Given the description of an element on the screen output the (x, y) to click on. 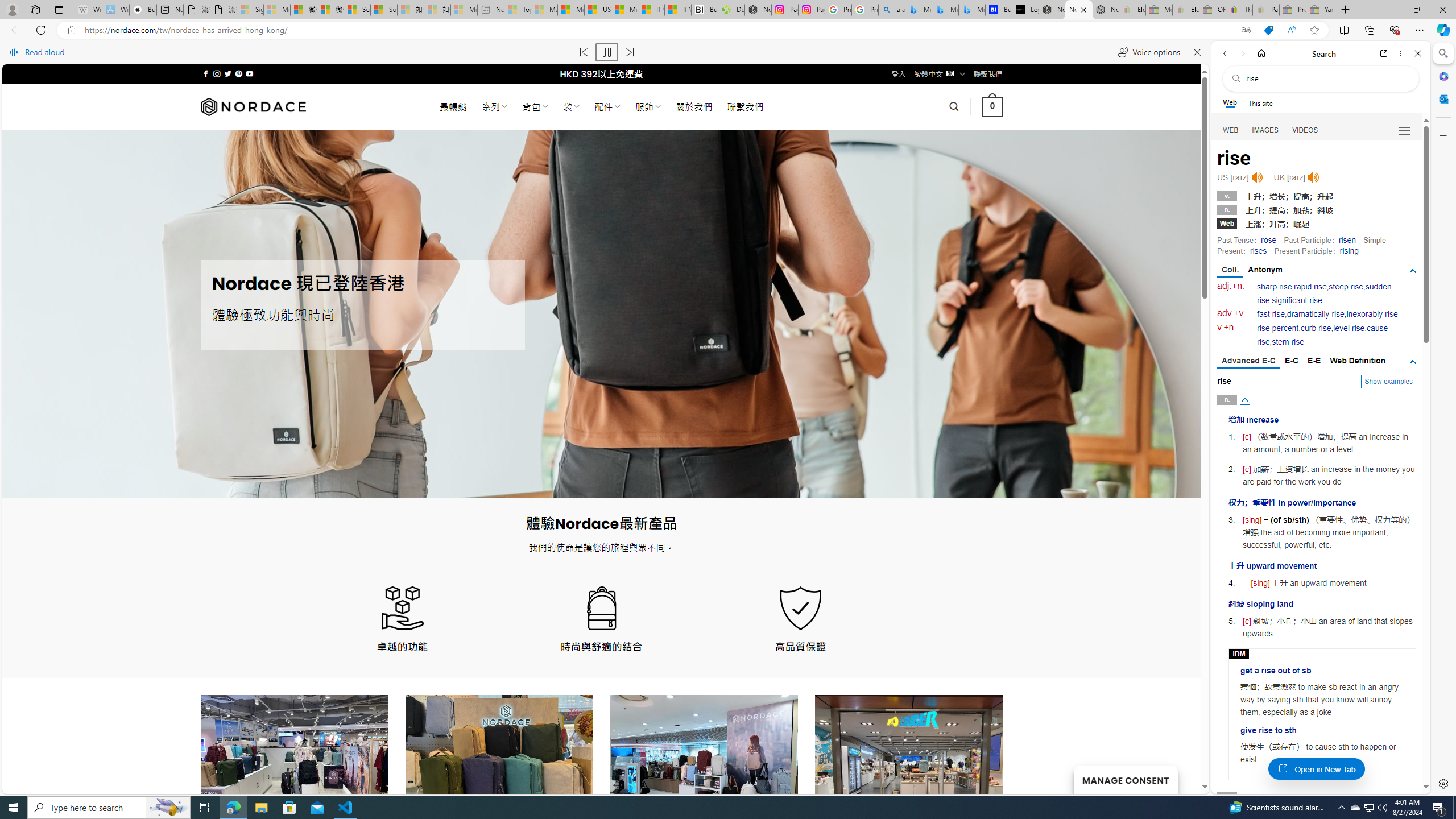
inexorably rise (1371, 313)
Antonym (1265, 269)
curb rise (1315, 328)
AutomationID: tgsb (1412, 270)
Read next paragraph (628, 52)
Top Stories - MSN - Sleeping (517, 9)
E-E (1314, 360)
